Given the description of an element on the screen output the (x, y) to click on. 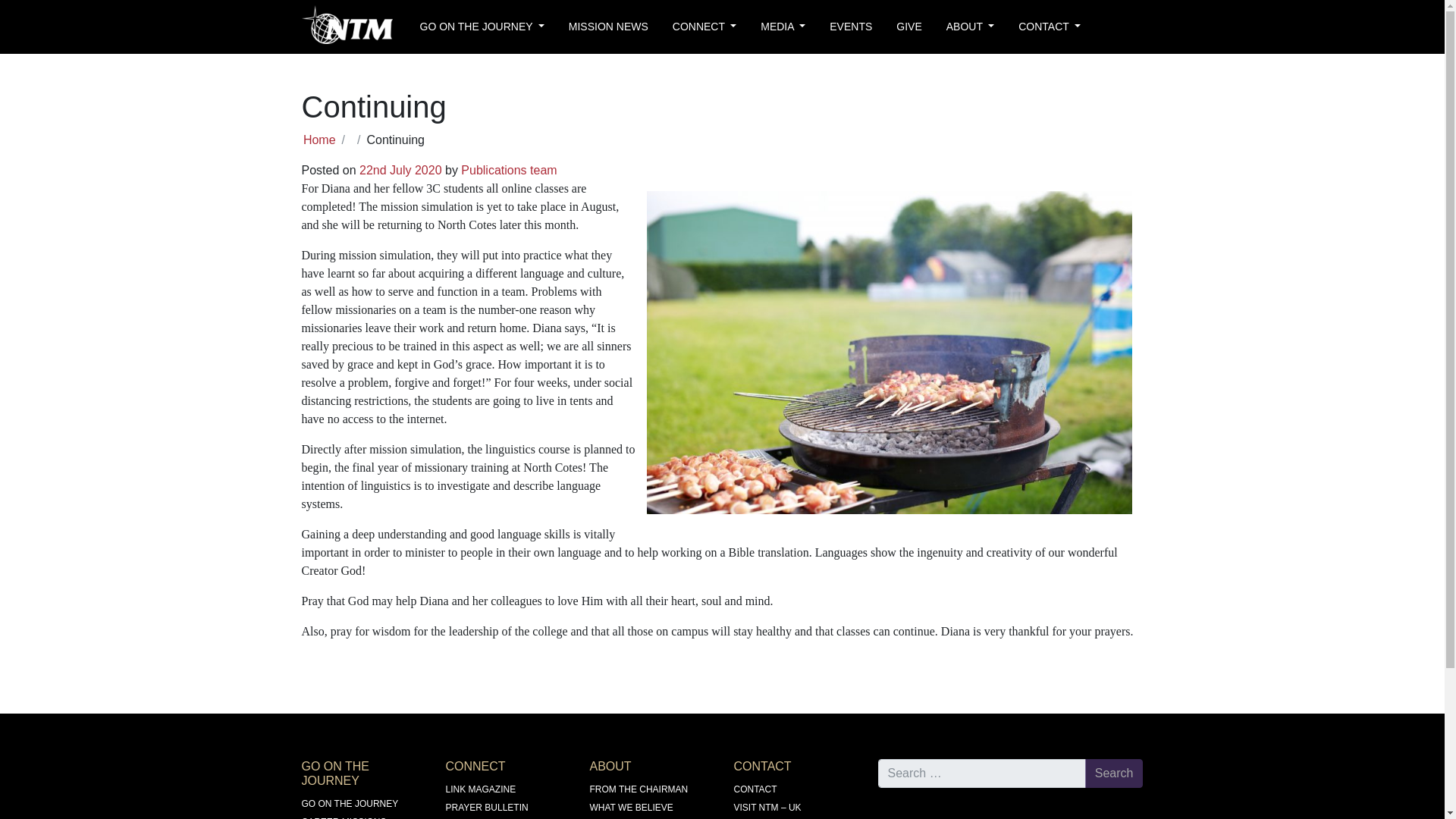
MISSION NEWS (608, 26)
CAREER MISSIONS (344, 817)
EVENTS (849, 26)
22nd July 2020 (400, 169)
Media (782, 26)
GO ON THE JOURNEY (349, 803)
Mission News (608, 26)
ABOUT (970, 26)
Search (1113, 773)
Home (319, 139)
